Given the description of an element on the screen output the (x, y) to click on. 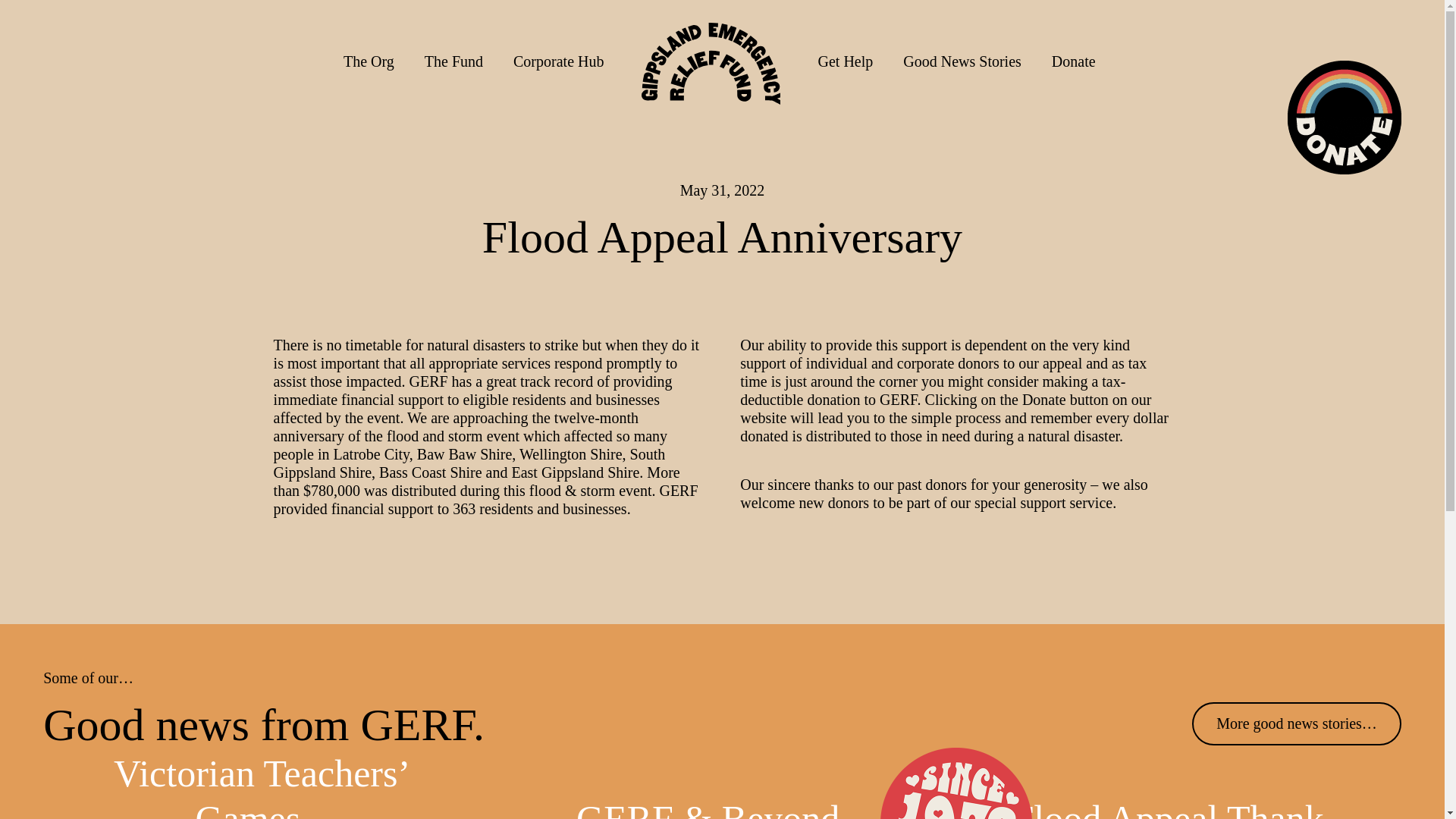
The Org (368, 61)
Corporate Hub (558, 61)
Good News Stories (962, 61)
Donate (1073, 61)
Get Help (845, 61)
The Fund (454, 61)
